Given the description of an element on the screen output the (x, y) to click on. 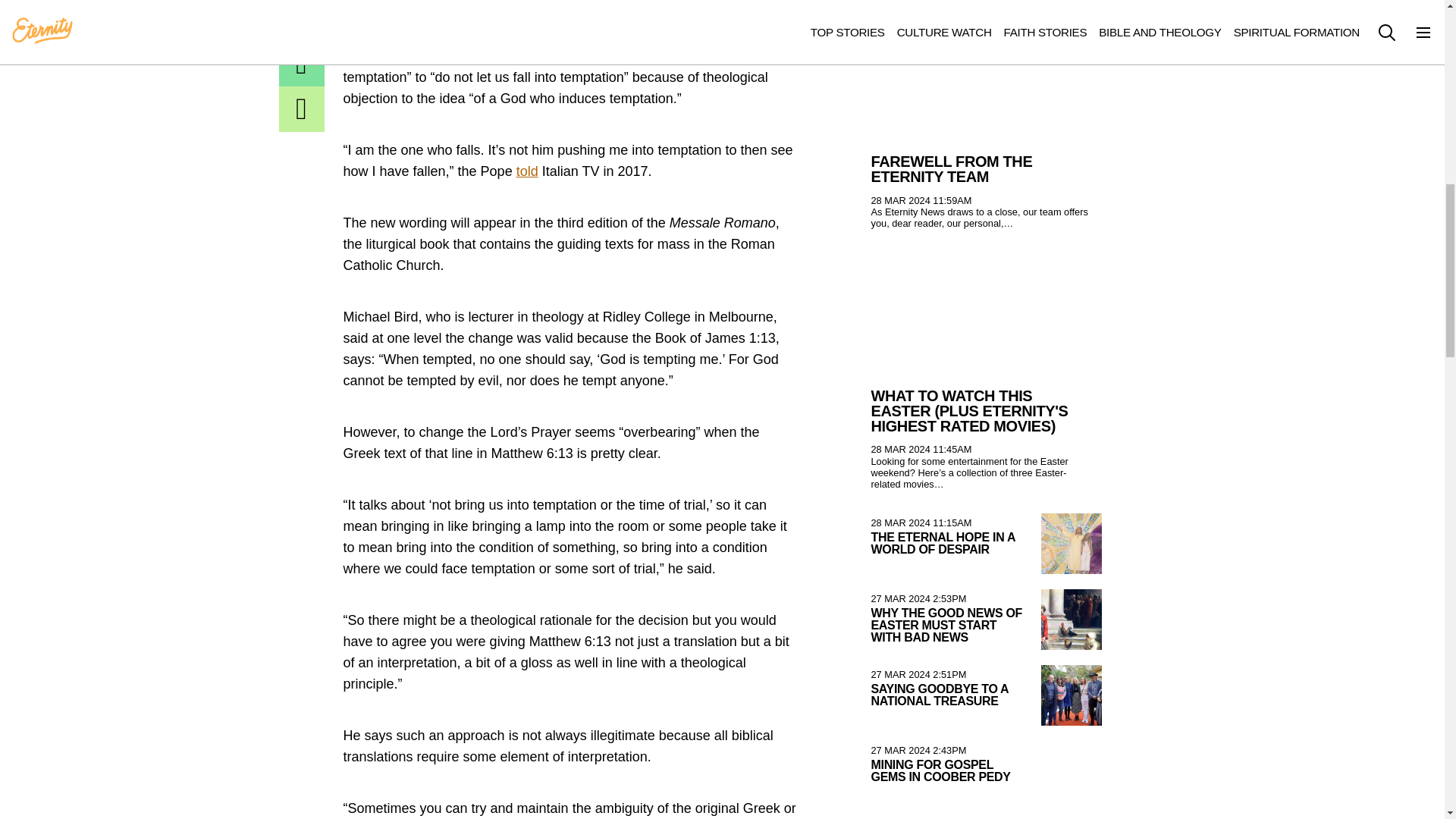
told (527, 171)
Share via Email (301, 63)
Copy link (301, 108)
Share via WhatsApp (301, 20)
